Given the description of an element on the screen output the (x, y) to click on. 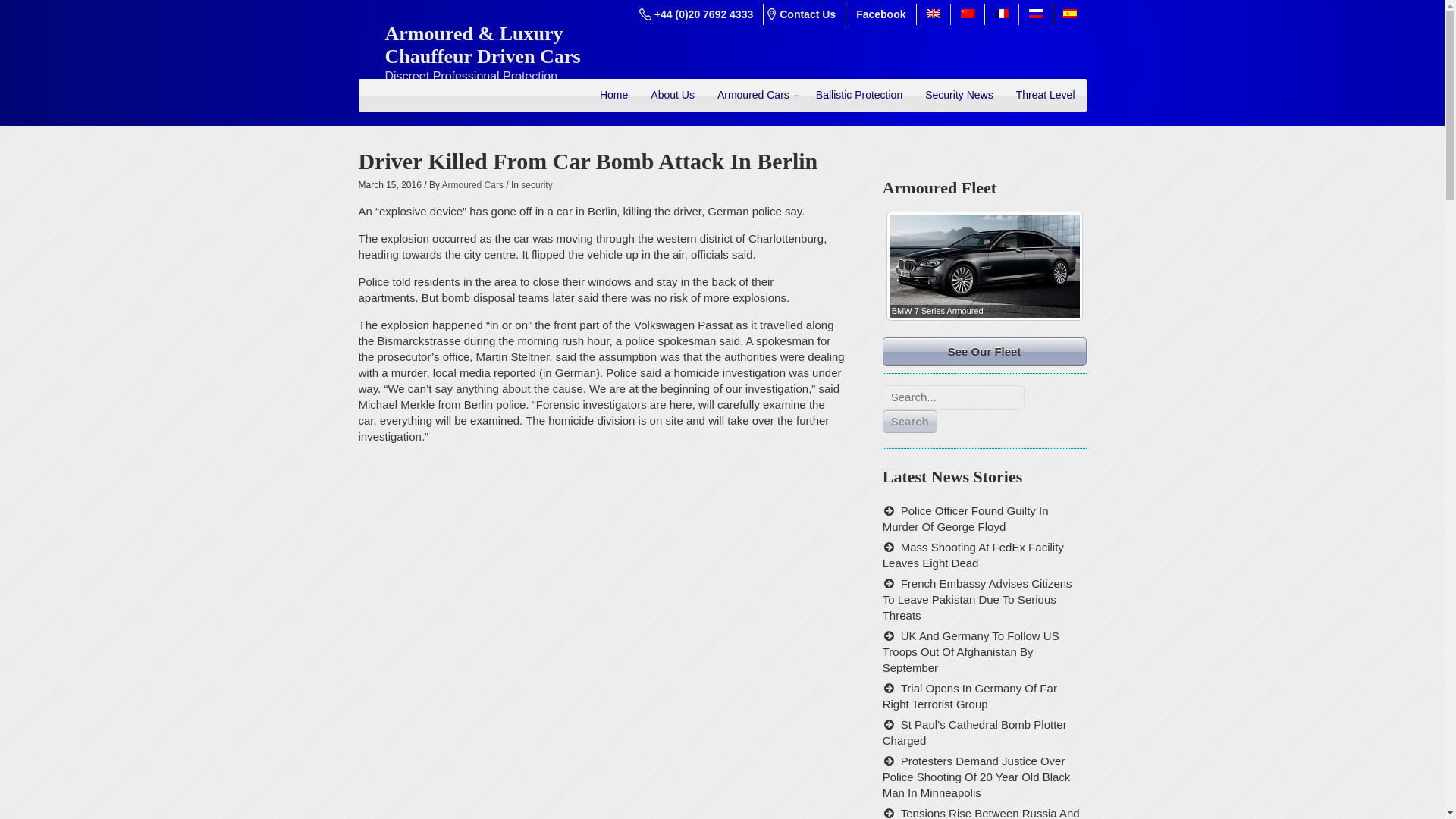
Ballistic Protection (859, 95)
Home (613, 95)
See Our Fleet (984, 351)
Threat Level (1045, 95)
Trial Opens In Germany Of Far Right Terrorist Group (969, 695)
security (536, 184)
Armoured Car Hire (613, 95)
About Us (672, 95)
Mass Shooting At FedEx Facility Leaves Eight Dead (973, 554)
Security News the latest breaking news (959, 95)
